Given the description of an element on the screen output the (x, y) to click on. 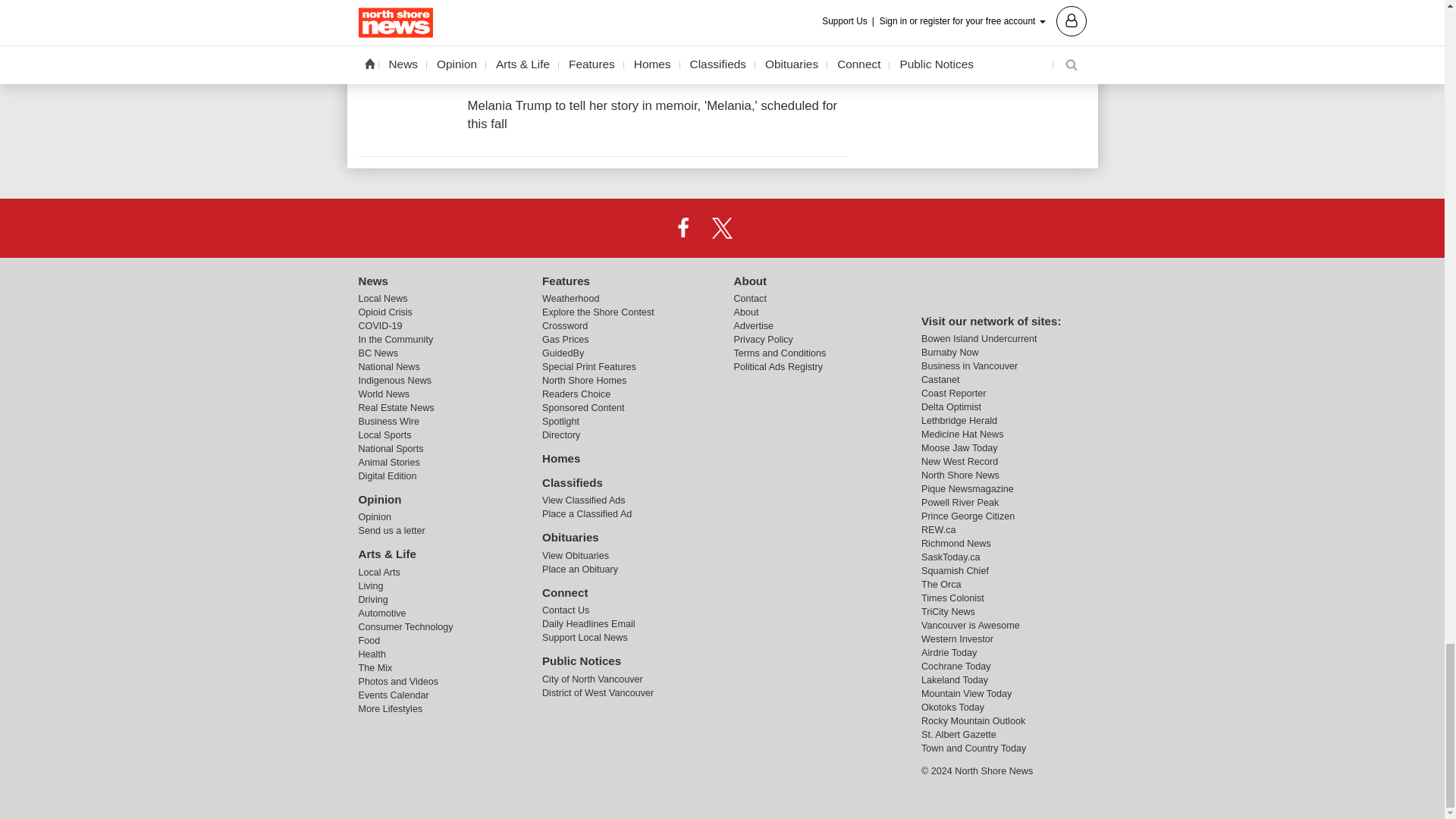
Facebook (683, 226)
Instagram (760, 226)
X (721, 226)
